Given the description of an element on the screen output the (x, y) to click on. 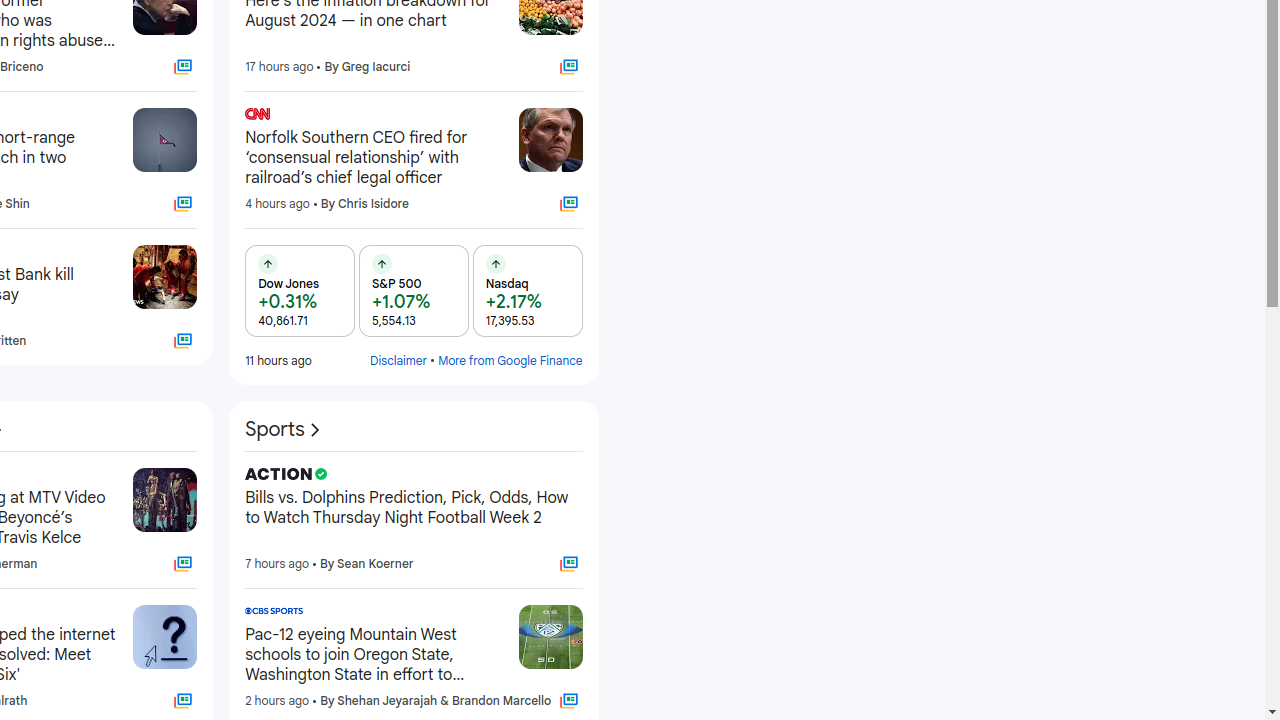
More - Pac-12 eyeing Mountain West schools to join Oregon State, Washington State in effort to preserve league Element type: push-button (496, 614)
More - Taylor Swift wins big at MTV Video Music Awards, ties Beyoncé’s record and thanks Travis Kelce Element type: push-button (111, 477)
More - Israeli strikes in West Bank kill eight, paramedics say Element type: push-button (111, 254)
More - North Korea fires short-range missiles in first launch in two months Element type: push-button (111, 117)
Pac-12 eyeing Mountain West schools to join Oregon State, Washington State in effort to preserve league Element type: link (374, 655)
